Given the description of an element on the screen output the (x, y) to click on. 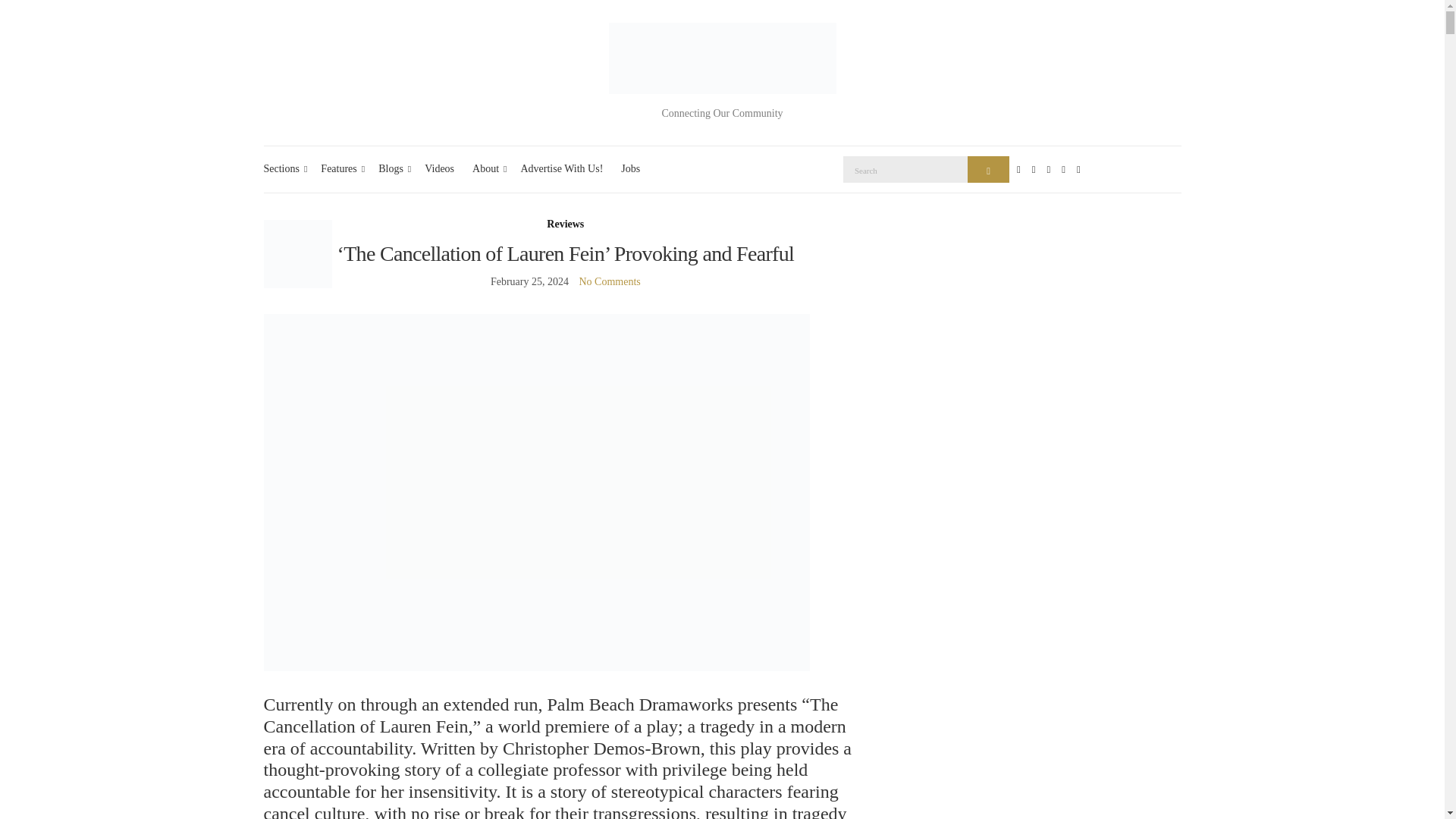
Search (988, 169)
Reviews (565, 224)
Jobs (630, 169)
Blogs (392, 169)
Advertise With Us! (560, 169)
No Comments (609, 281)
Reviews (565, 224)
Videos (439, 169)
Features (339, 169)
About (486, 169)
